Given the description of an element on the screen output the (x, y) to click on. 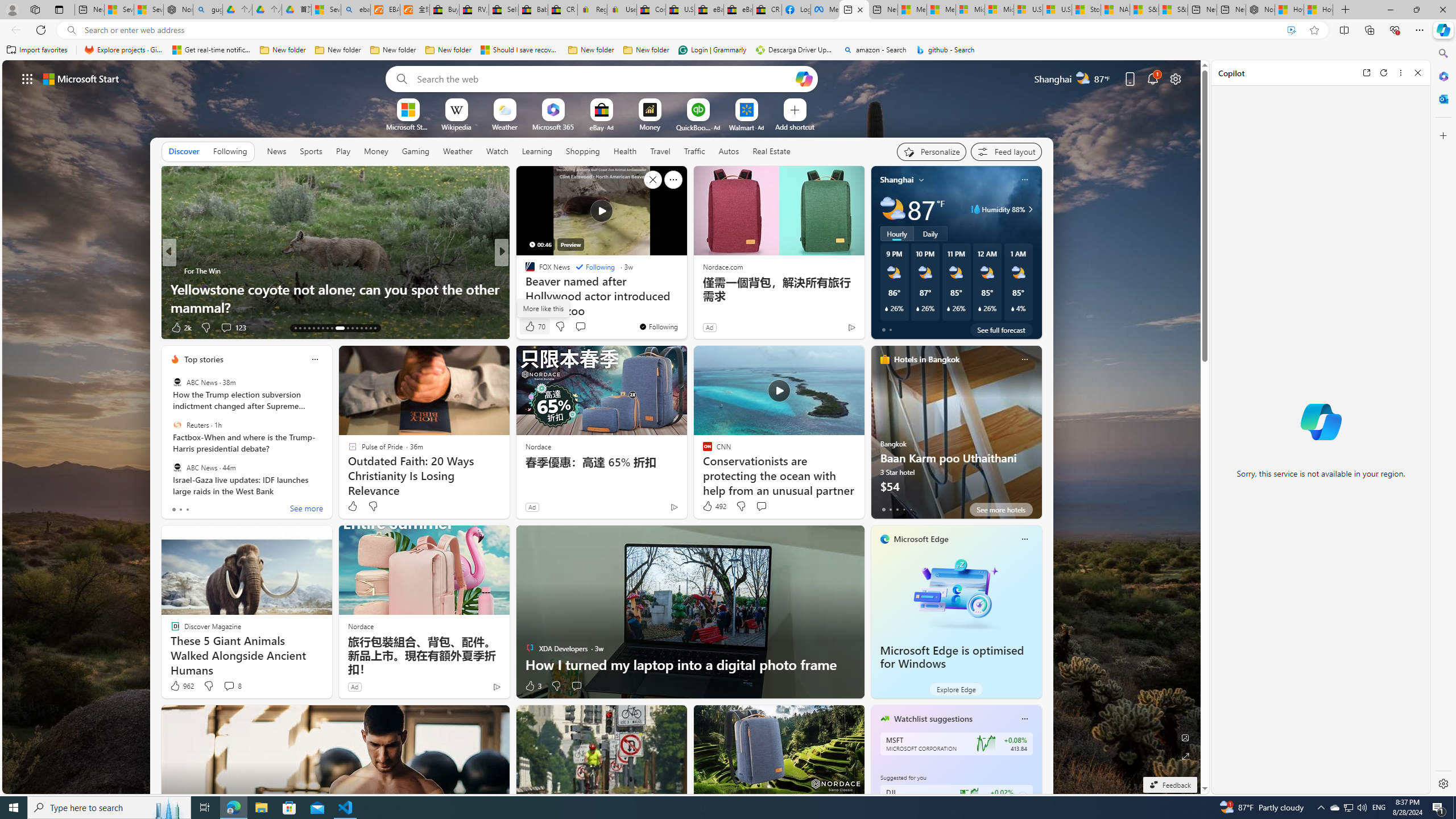
Descarga Driver Updater (794, 49)
AutomationID: tab-22 (336, 328)
View comments 8 Comment (232, 685)
hotels-header-icon (884, 358)
Watchlist suggestions (932, 718)
App launcher (27, 78)
AutomationID: tab-24 (352, 328)
New folder (646, 49)
Should I save recovered Word documents? - Microsoft Support (519, 49)
